Given the description of an element on the screen output the (x, y) to click on. 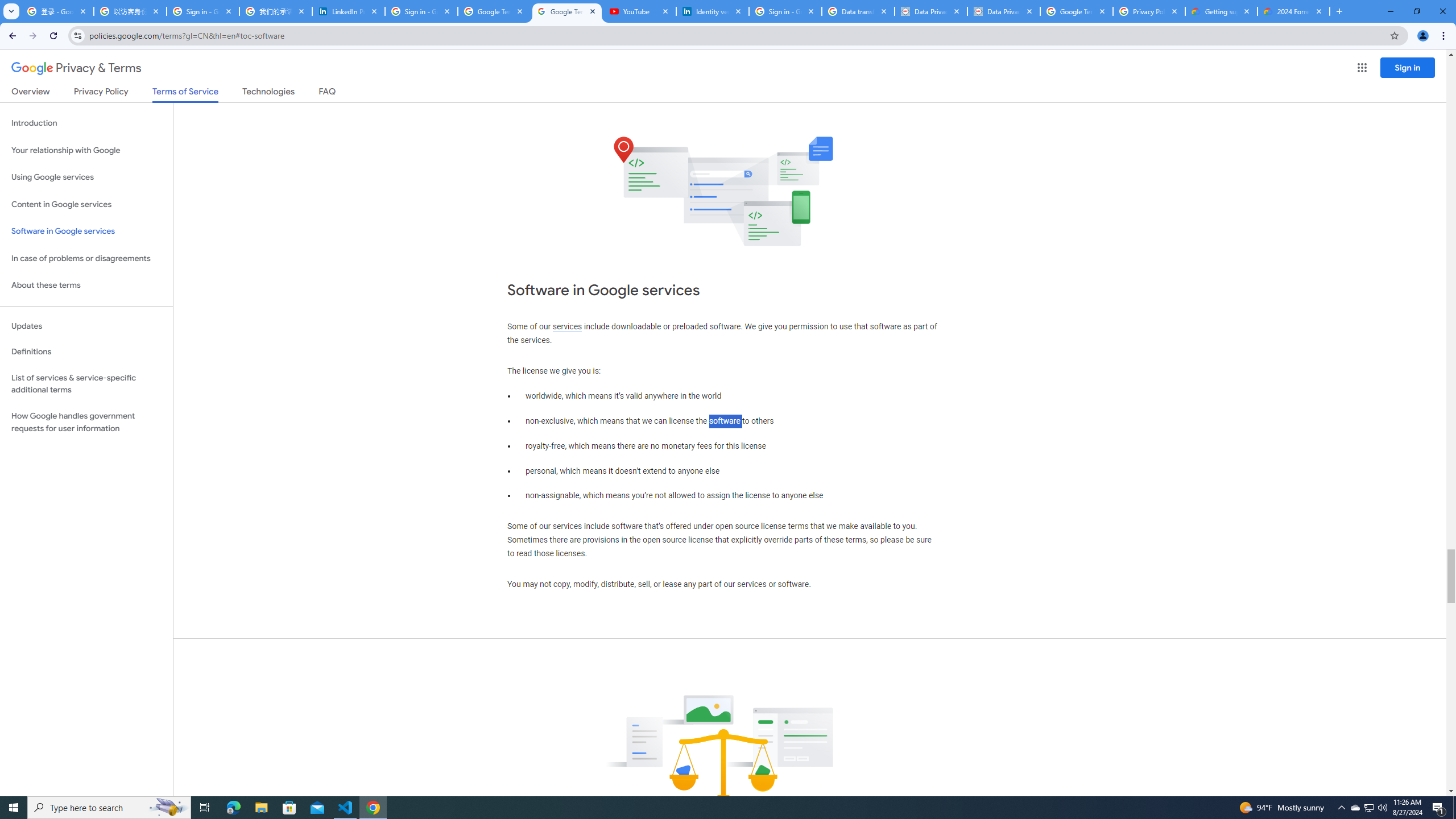
Data Privacy Framework (1003, 11)
About these terms (86, 284)
How Google handles government requests for user information (86, 422)
List of services & service-specific additional terms (86, 383)
Your relationship with Google (86, 150)
